Given the description of an element on the screen output the (x, y) to click on. 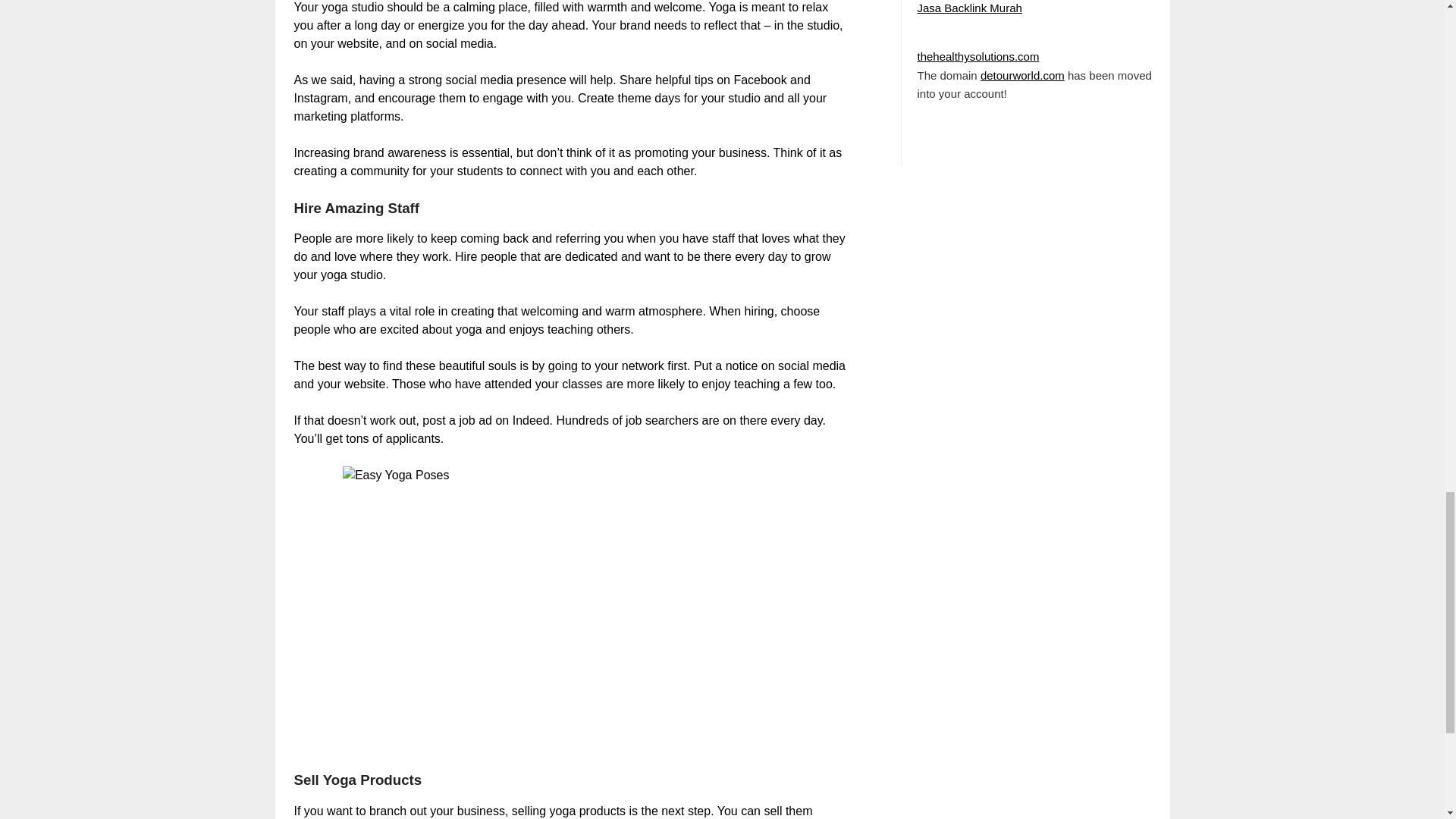
5 Powerful Tips to Grow Your Yoga Studio (569, 609)
